Given the description of an element on the screen output the (x, y) to click on. 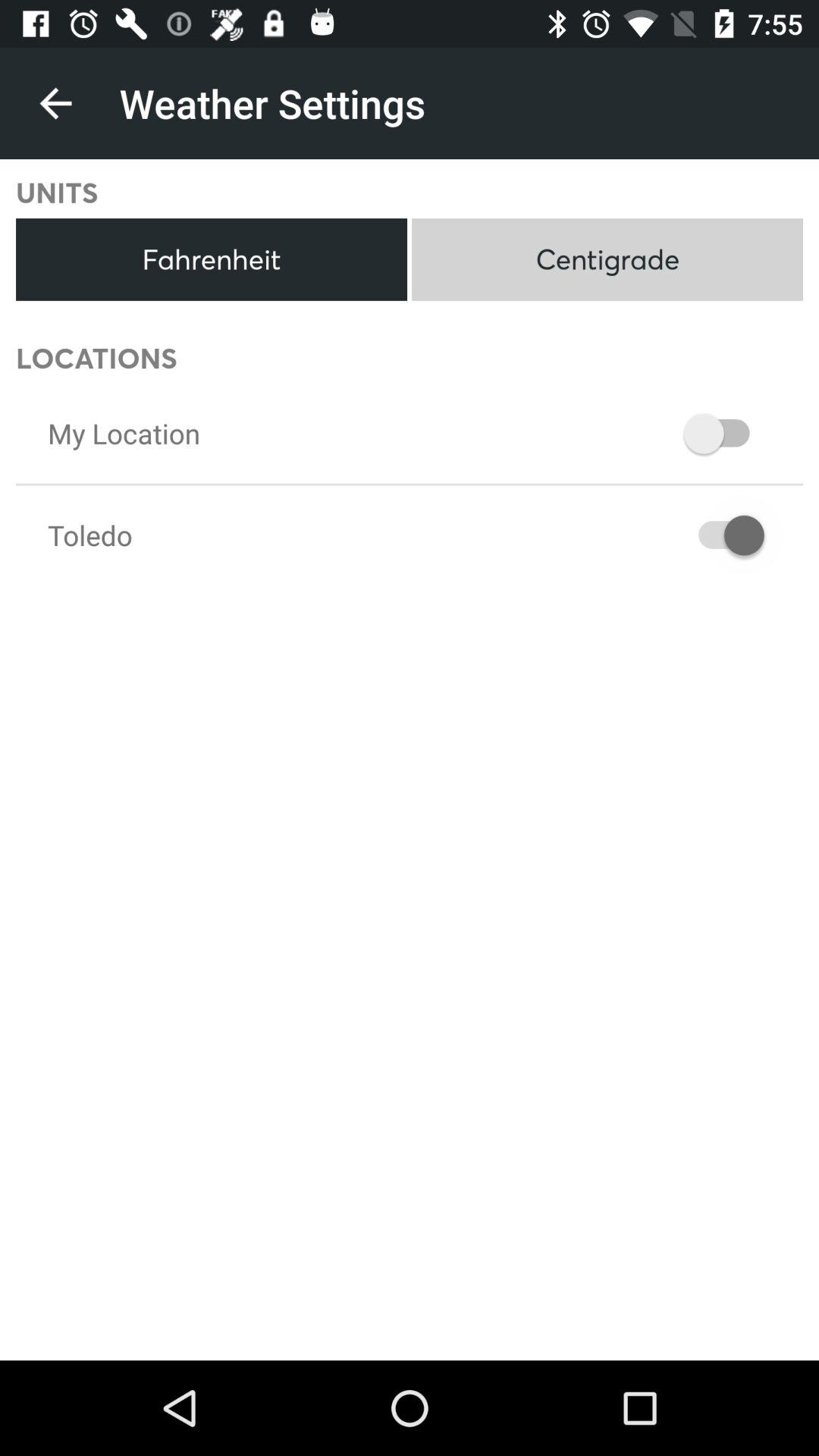
press the item below the units item (211, 259)
